Given the description of an element on the screen output the (x, y) to click on. 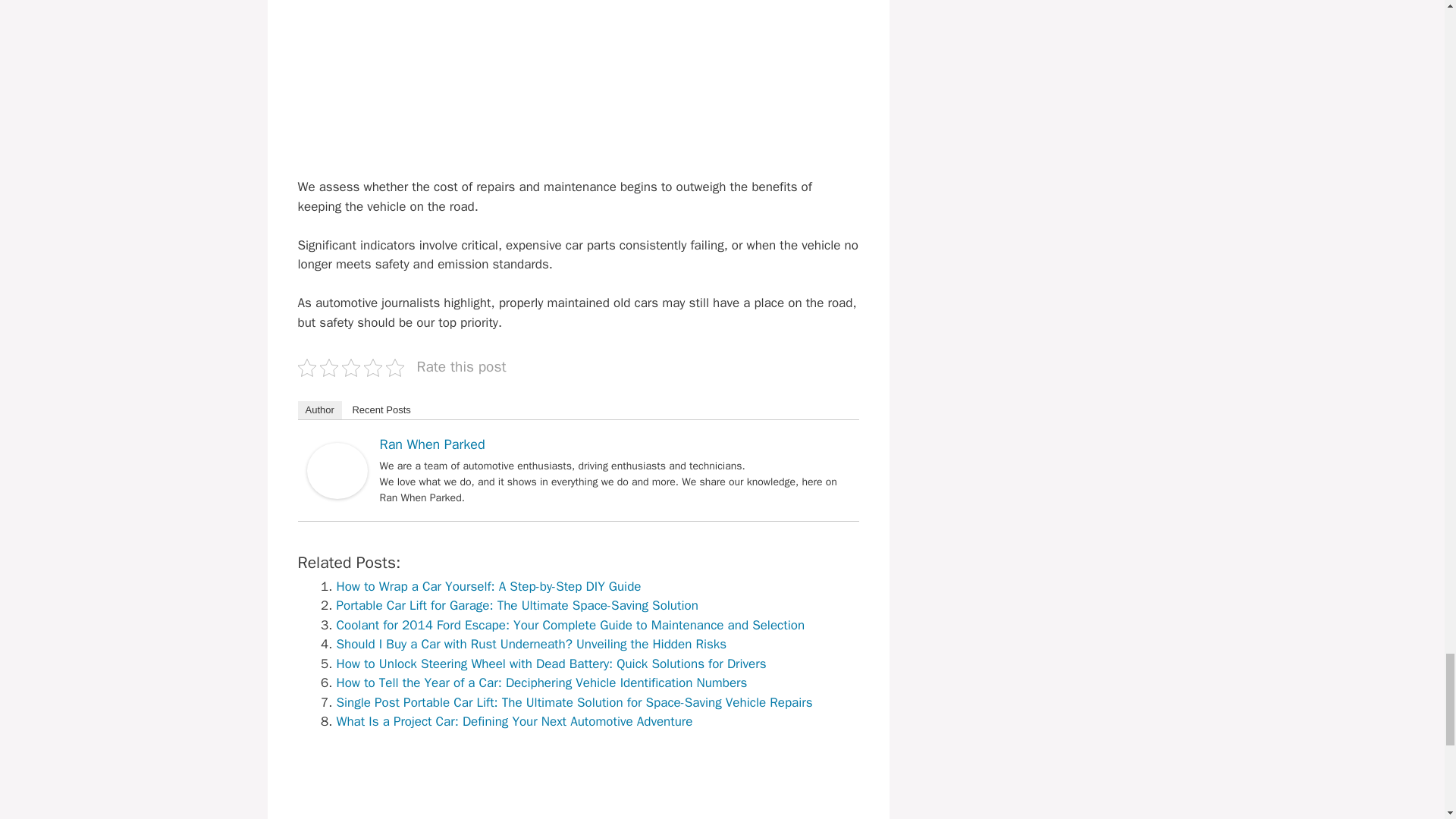
Ran When Parked (335, 494)
How to Wrap a Car Yourself: A Step-by-Step DIY Guide (489, 586)
